Given the description of an element on the screen output the (x, y) to click on. 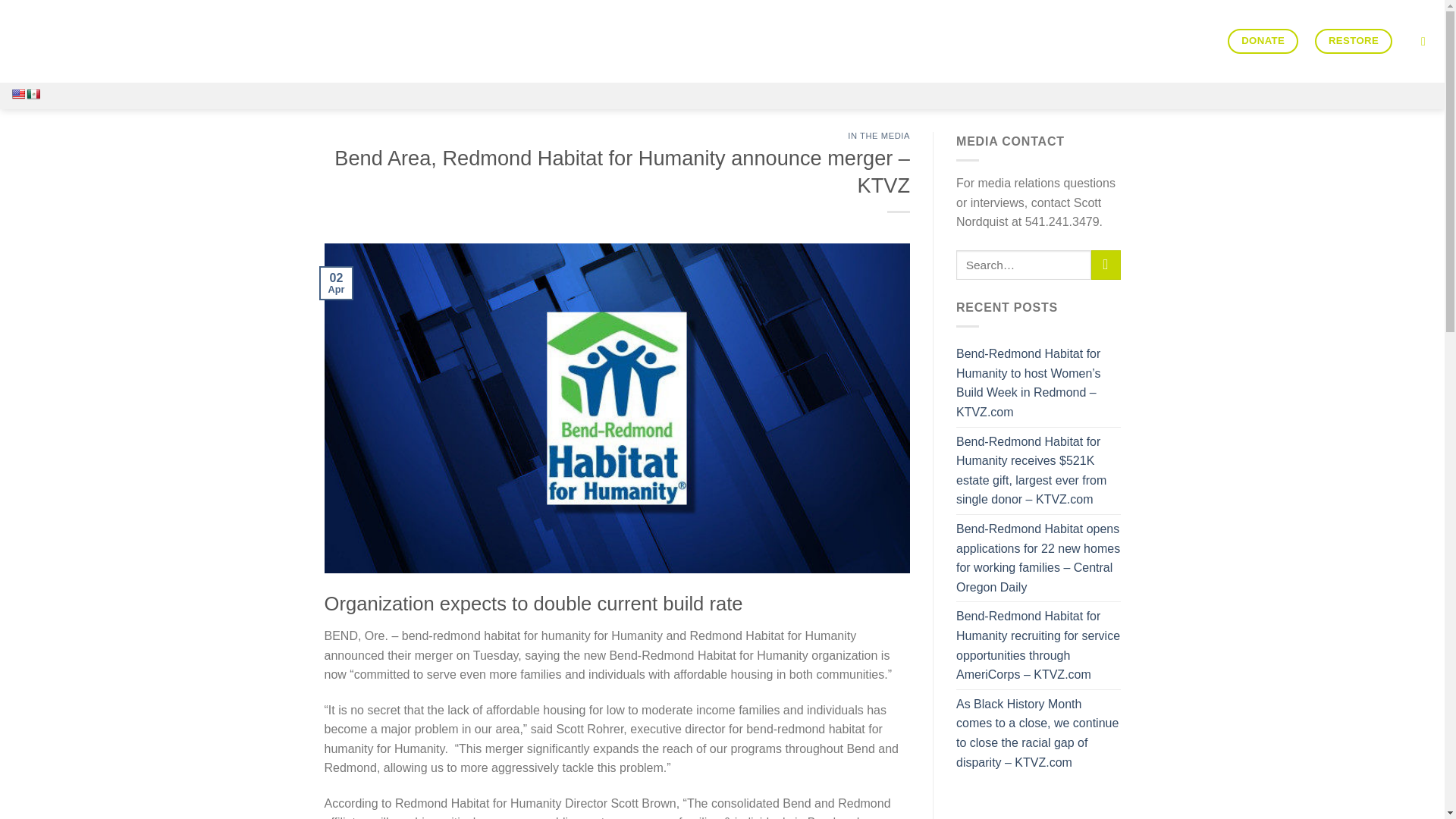
RESTORE (1352, 41)
What We Do (924, 40)
DONATE (1262, 41)
Get Involved (1021, 40)
English (17, 93)
Spanish (33, 93)
Who We Are (830, 40)
IN THE MEDIA (878, 135)
